Given the description of an element on the screen output the (x, y) to click on. 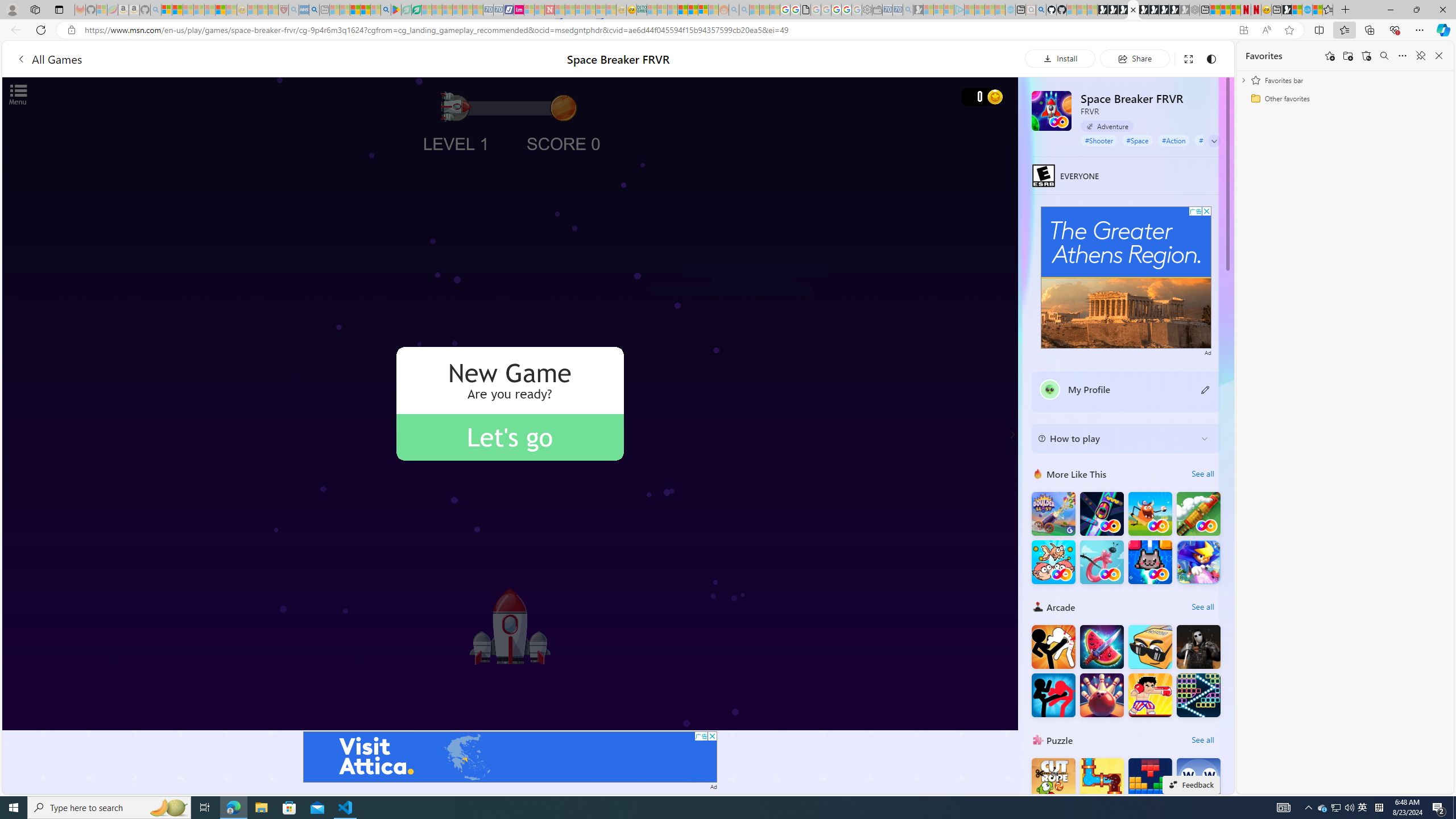
App available. Install Space Breaker FRVR (1243, 29)
AutomationID: cbb (1206, 211)
Advertisement (1126, 277)
